Given the description of an element on the screen output the (x, y) to click on. 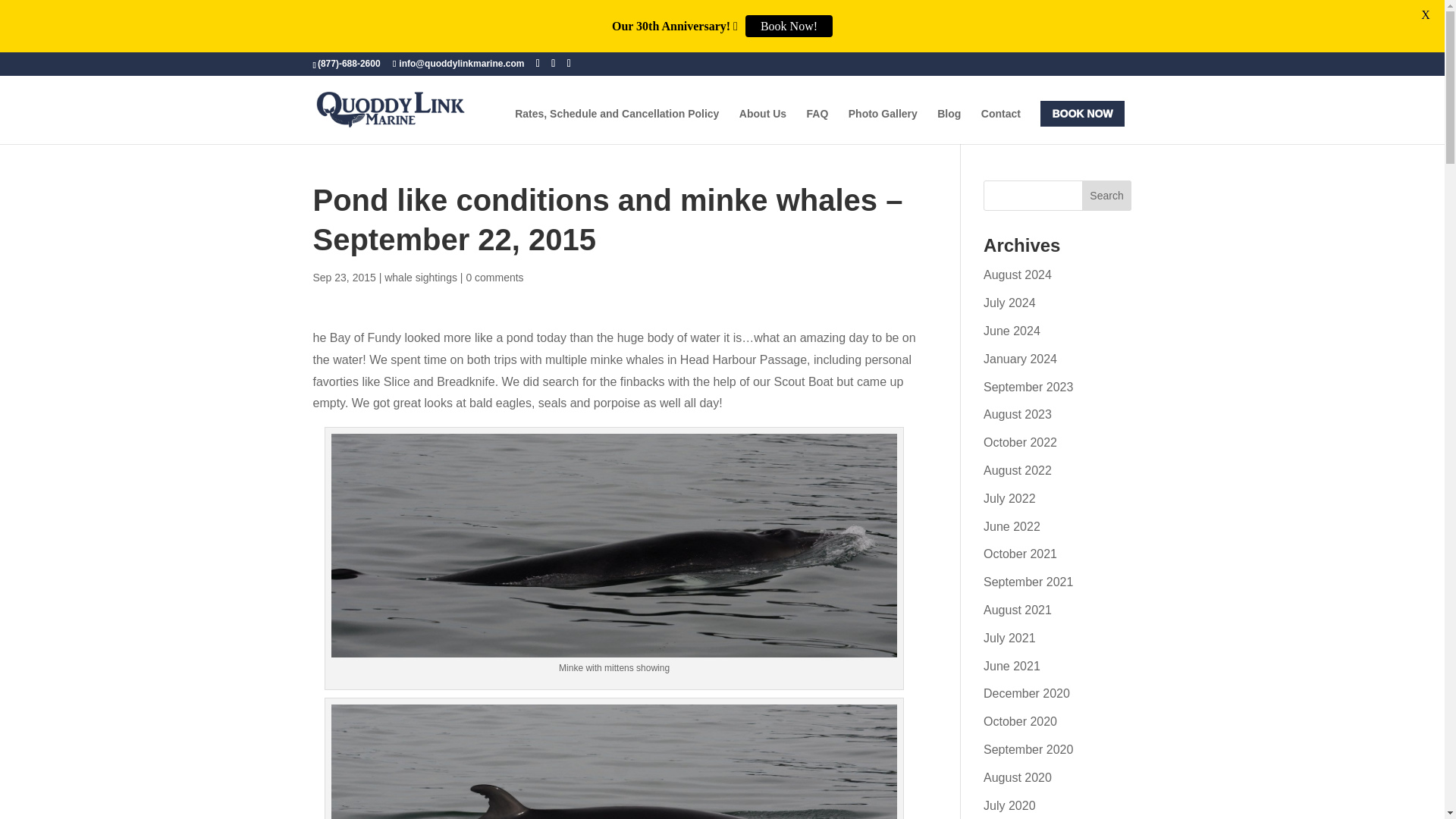
whale sightings (420, 277)
Search (1106, 195)
July 2024 (1009, 302)
About Us (762, 126)
BOOK NOW (1082, 113)
0 comments (493, 277)
Photo Gallery (882, 126)
August 2024 (1017, 274)
January 2024 (1020, 358)
Rates, Schedule and Cancellation Policy (617, 126)
